Given the description of an element on the screen output the (x, y) to click on. 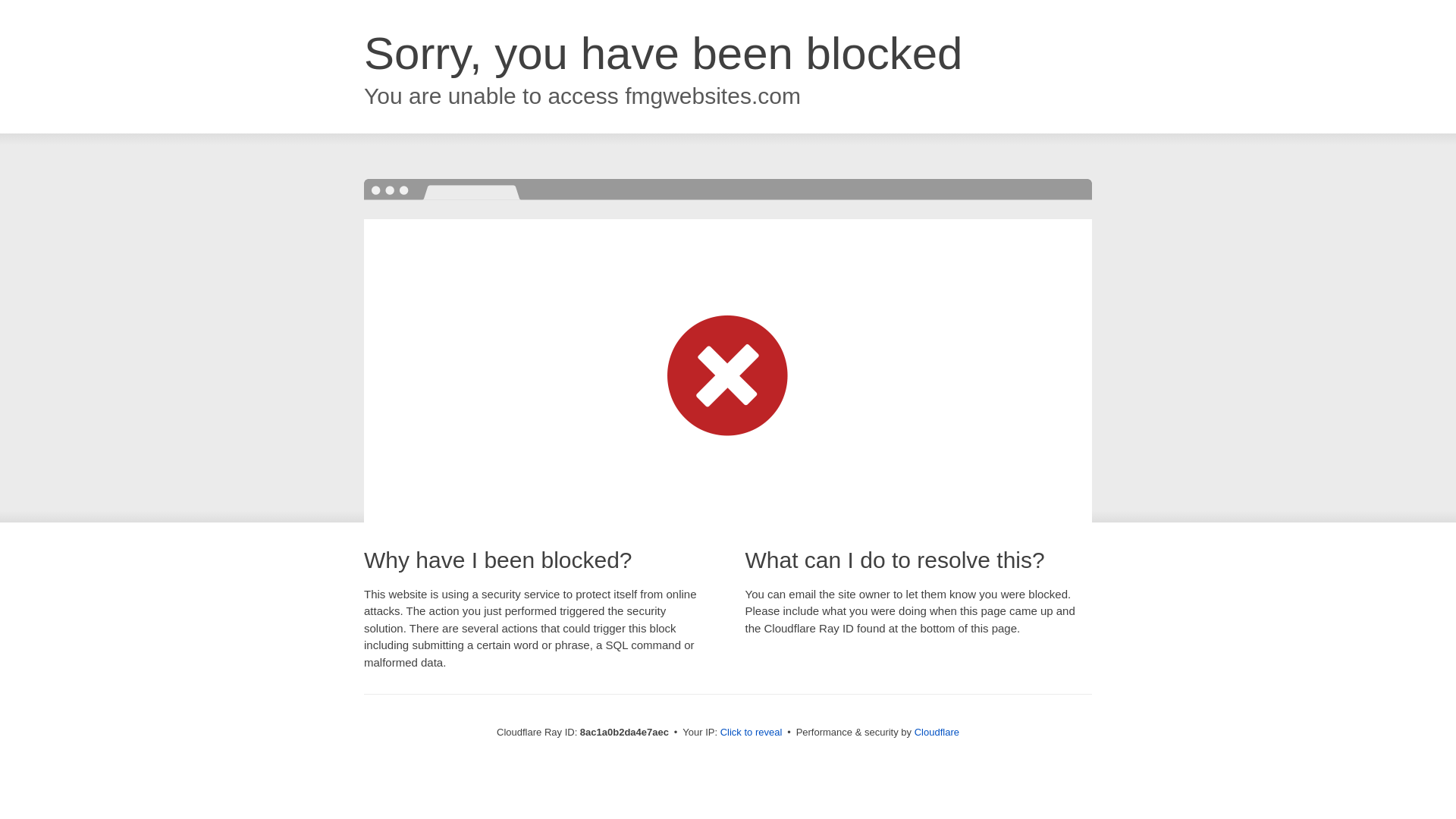
Click to reveal (751, 732)
Cloudflare (936, 731)
